Given the description of an element on the screen output the (x, y) to click on. 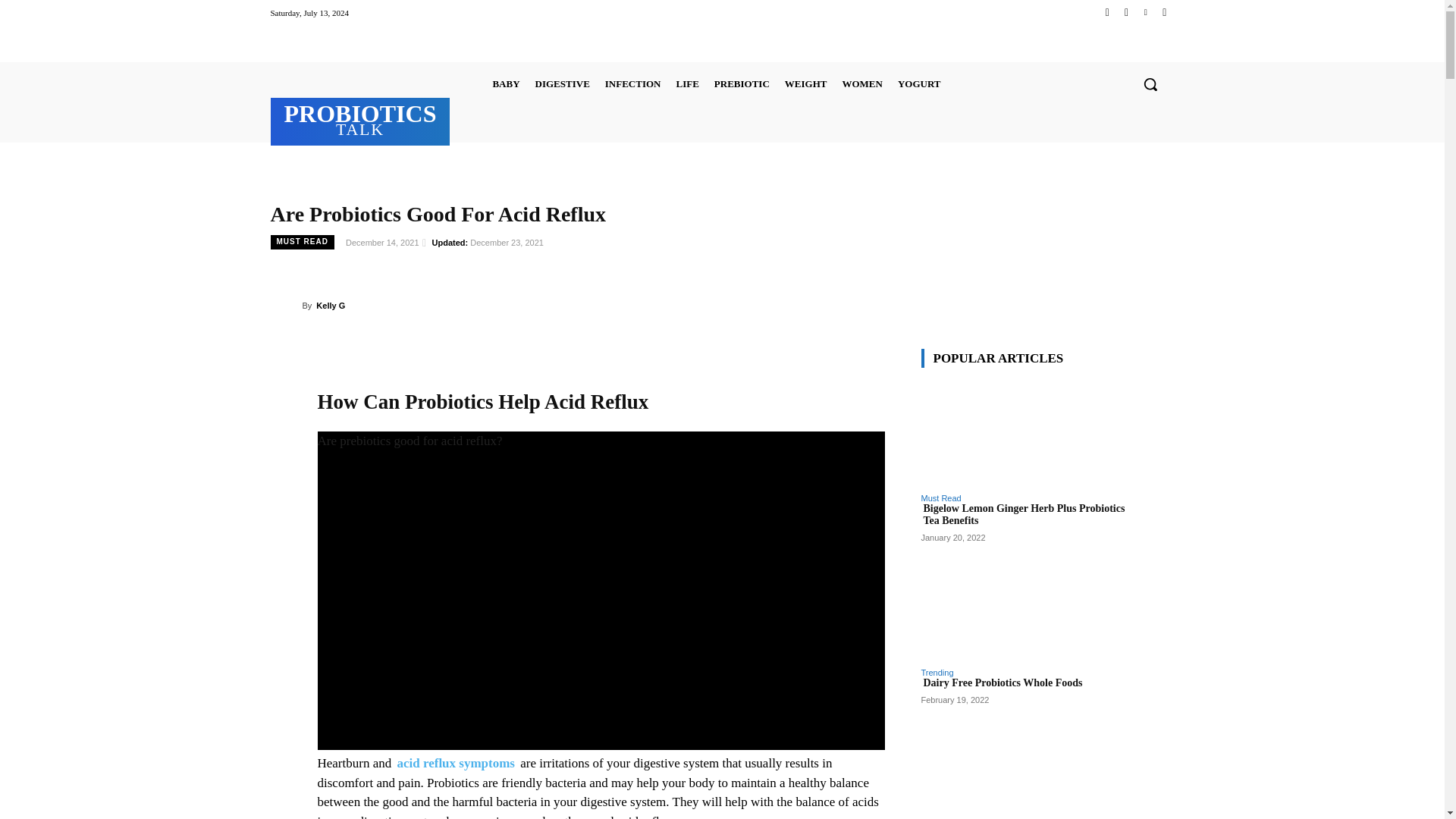
DIGESTIVE (562, 83)
Instagram (1125, 12)
Twitter (1144, 12)
Youtube (360, 119)
BABY (1163, 12)
Kelly G (505, 83)
Facebook (285, 305)
